Given the description of an element on the screen output the (x, y) to click on. 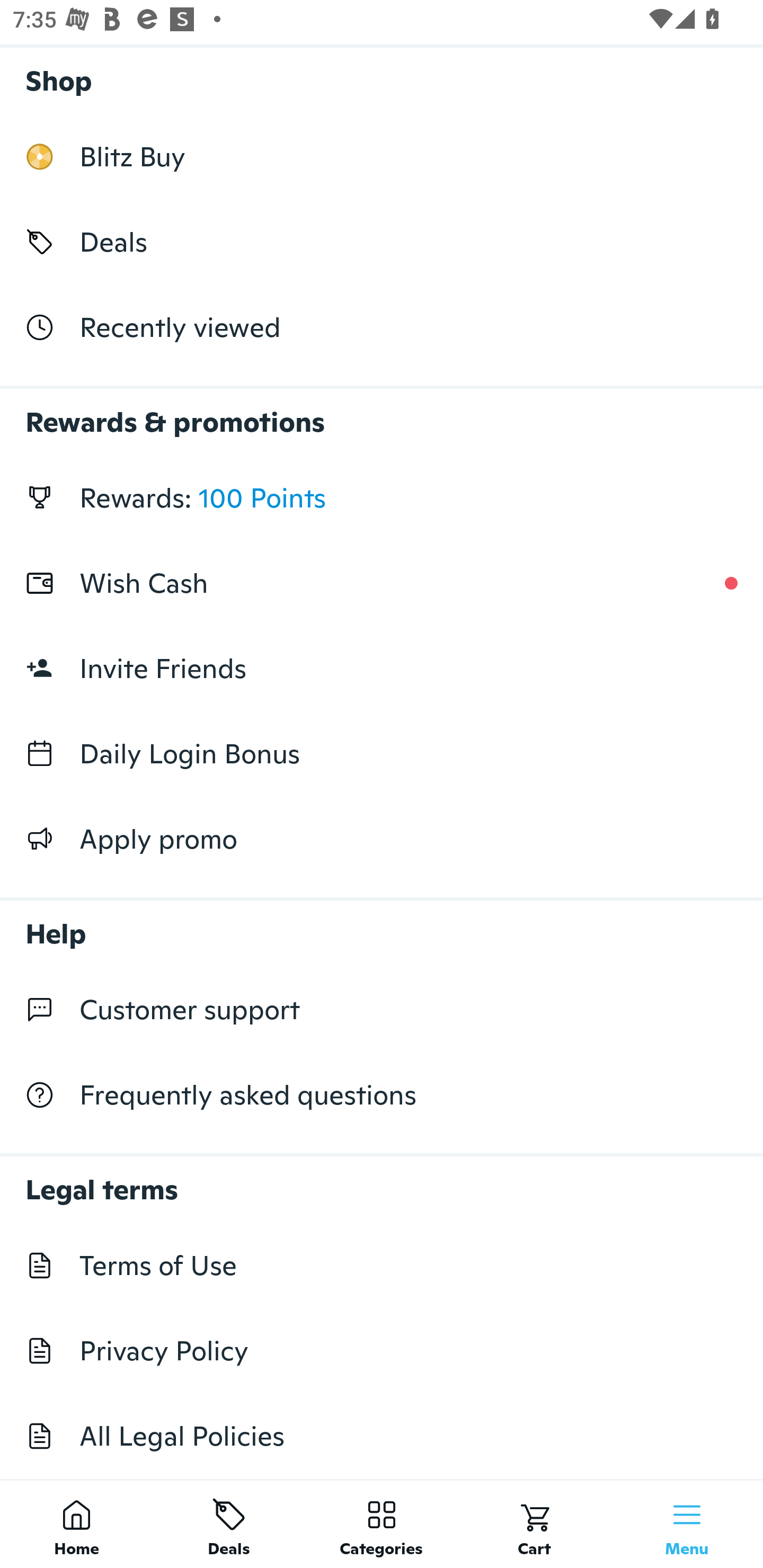
Shop (381, 75)
Blitz Buy (381, 156)
Deals (381, 242)
Recently viewed (381, 326)
Rewards & promotions (381, 413)
Rewards: 100 Points (381, 497)
Wish Cash (381, 582)
Invite Friends (381, 668)
Daily Login Bonus (381, 753)
Apply promo (381, 838)
Help (381, 924)
Customer support (381, 1009)
Frequently asked questions (381, 1095)
Legal terms (381, 1179)
Terms of Use (381, 1265)
Privacy Policy (381, 1350)
All Legal Policies (381, 1435)
Home (76, 1523)
Deals (228, 1523)
Categories (381, 1523)
Cart (533, 1523)
Menu (686, 1523)
